Given the description of an element on the screen output the (x, y) to click on. 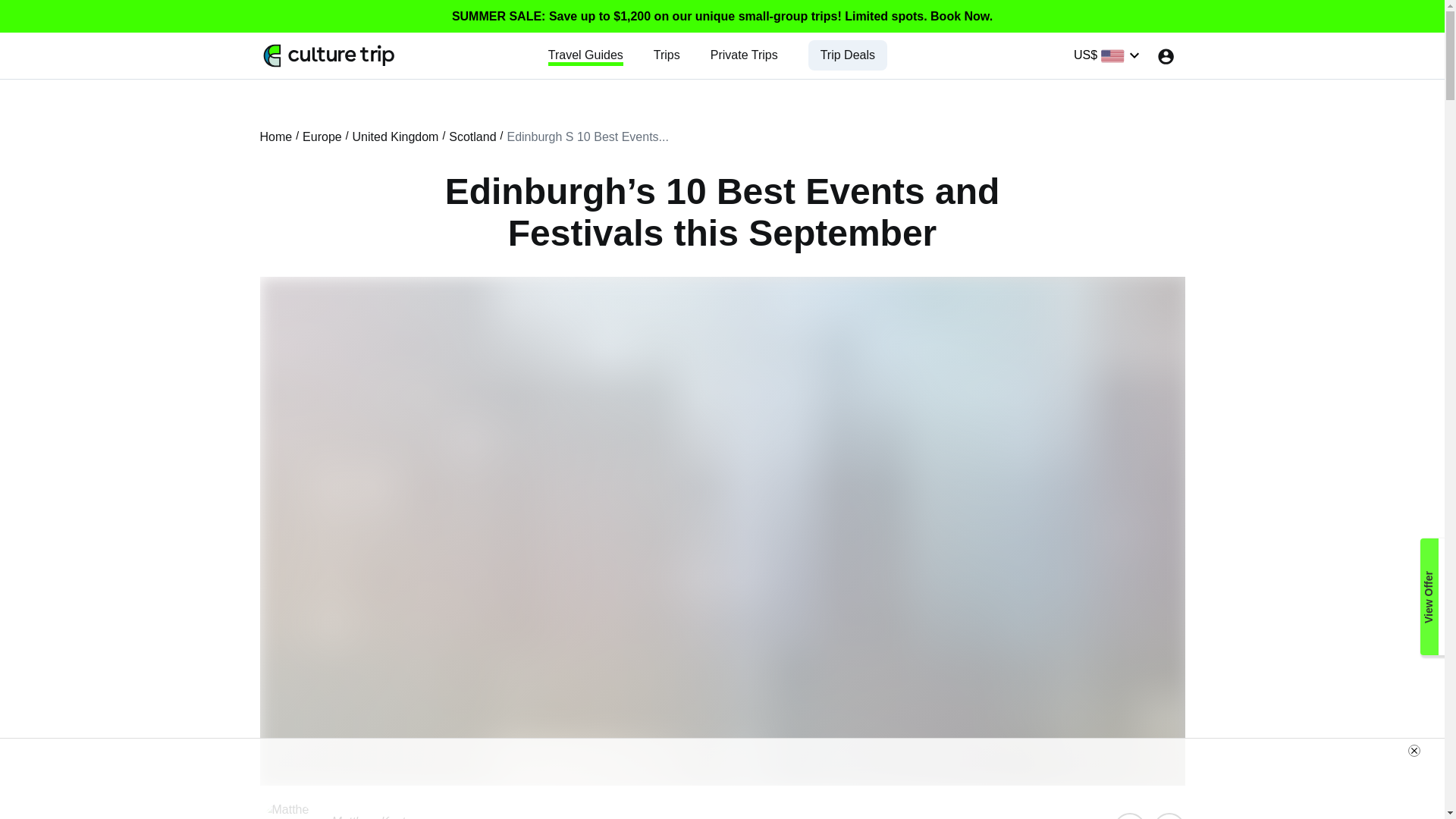
Private Trips (743, 54)
Trips (666, 54)
United Kingdom (395, 136)
Home (275, 136)
Private Trips (743, 54)
Trip Deals (848, 54)
Travel Guides (585, 54)
Trip Deals (848, 54)
Travel Guides (585, 54)
Europe (322, 136)
